Given the description of an element on the screen output the (x, y) to click on. 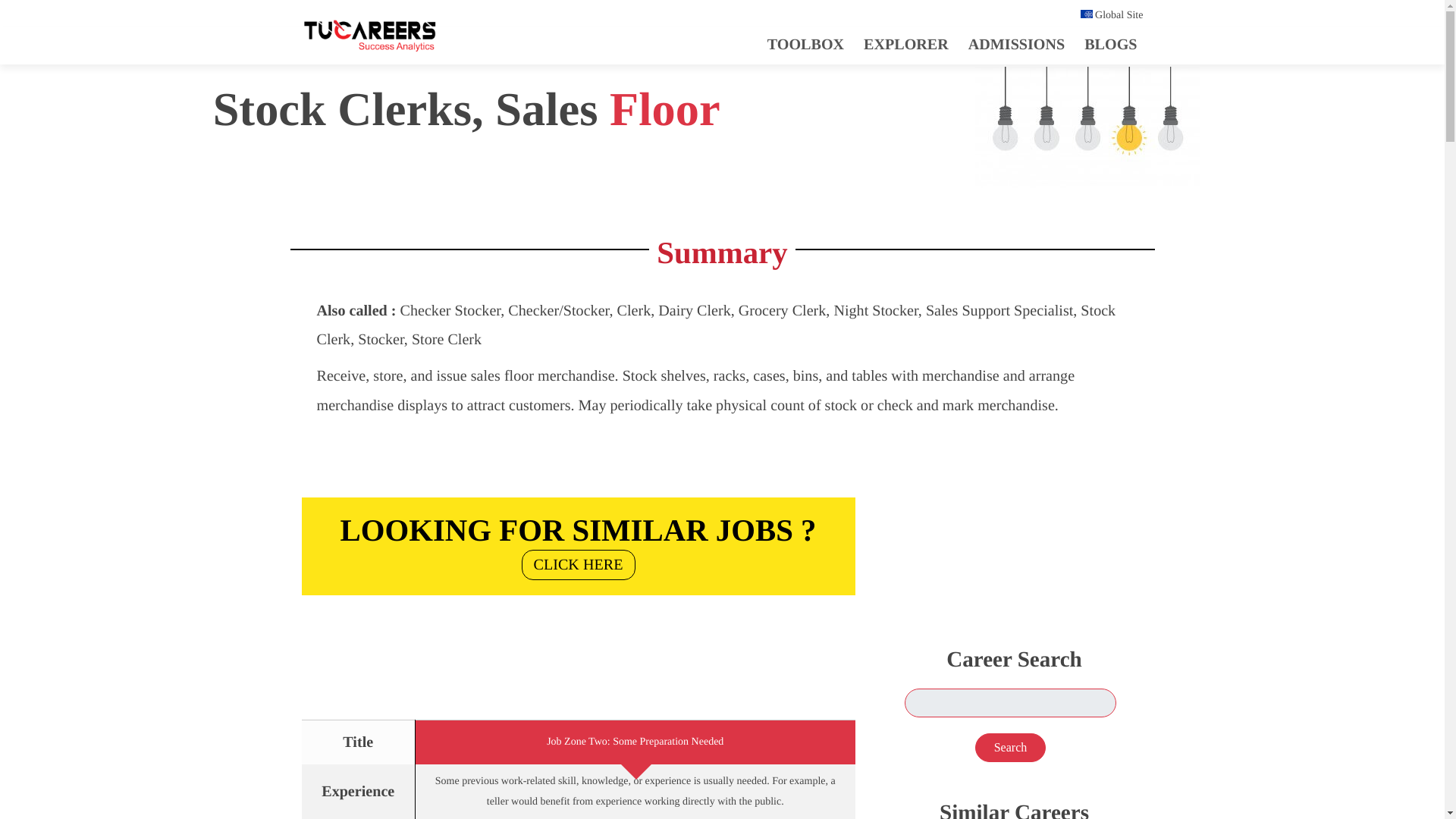
EXPLORER (906, 44)
Search (1010, 747)
Home (369, 39)
BLOGS (1110, 44)
Embedded video for 43-5081.01-Stock Clerks, Sales Floor (578, 542)
ADMISSIONS (1009, 534)
TOOLBOX (578, 542)
